Given the description of an element on the screen output the (x, y) to click on. 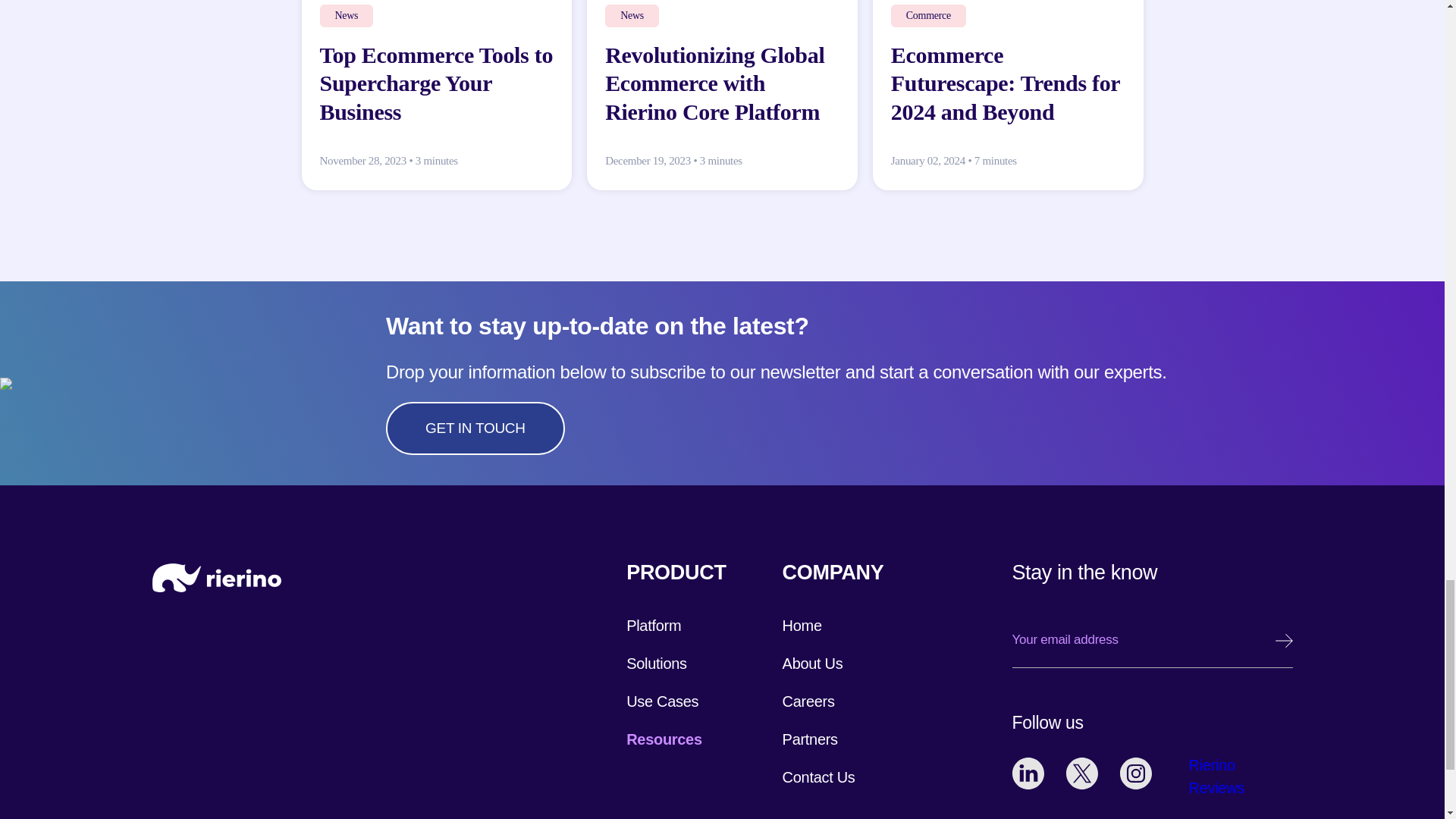
Contact Us (819, 777)
About Us (813, 663)
Rierino Reviews (1219, 776)
Careers (808, 701)
Platform (653, 625)
Solutions (656, 663)
Partners (810, 739)
GET IN TOUCH (474, 428)
Use Cases (662, 701)
Resources (663, 739)
Home (802, 625)
